Given the description of an element on the screen output the (x, y) to click on. 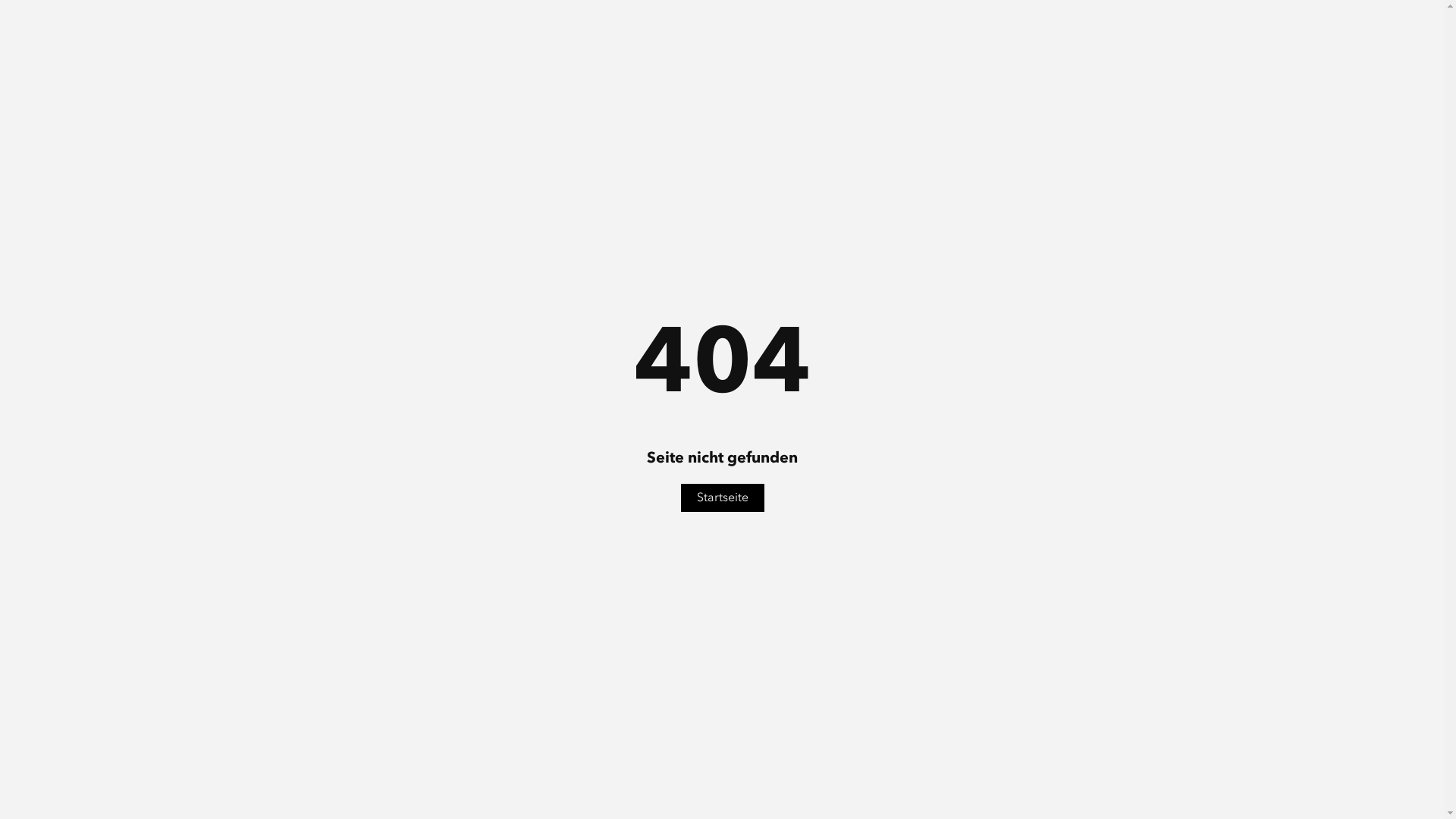
Startseite Element type: text (722, 497)
